Given the description of an element on the screen output the (x, y) to click on. 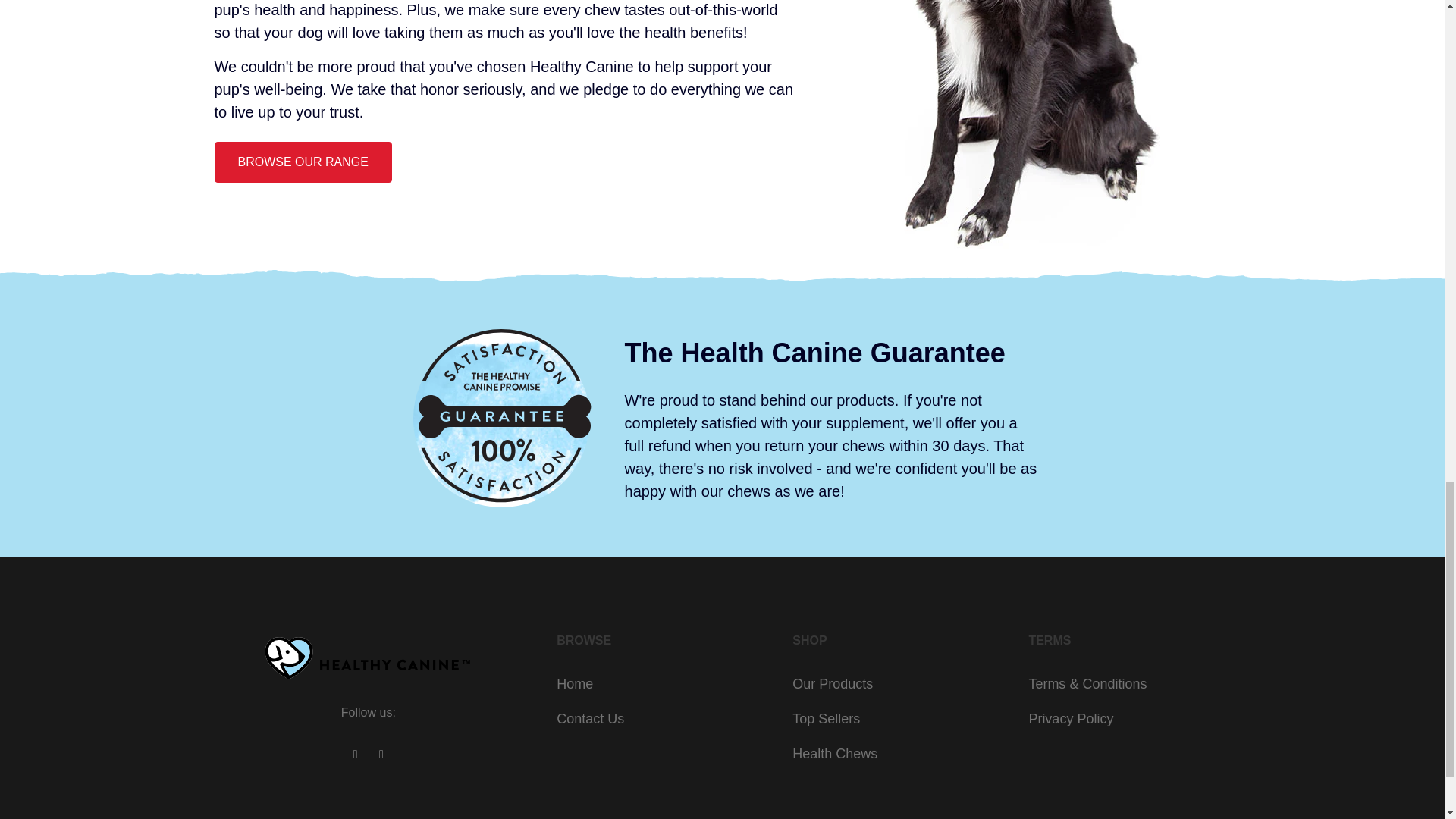
Contact Us (590, 718)
BROWSE OUR RANGE (302, 161)
Home (574, 683)
Our Products (832, 683)
Satisfaction Guarantee (504, 415)
Health Chews (834, 753)
Top Sellers (826, 718)
Privacy Policy (1070, 718)
